Given the description of an element on the screen output the (x, y) to click on. 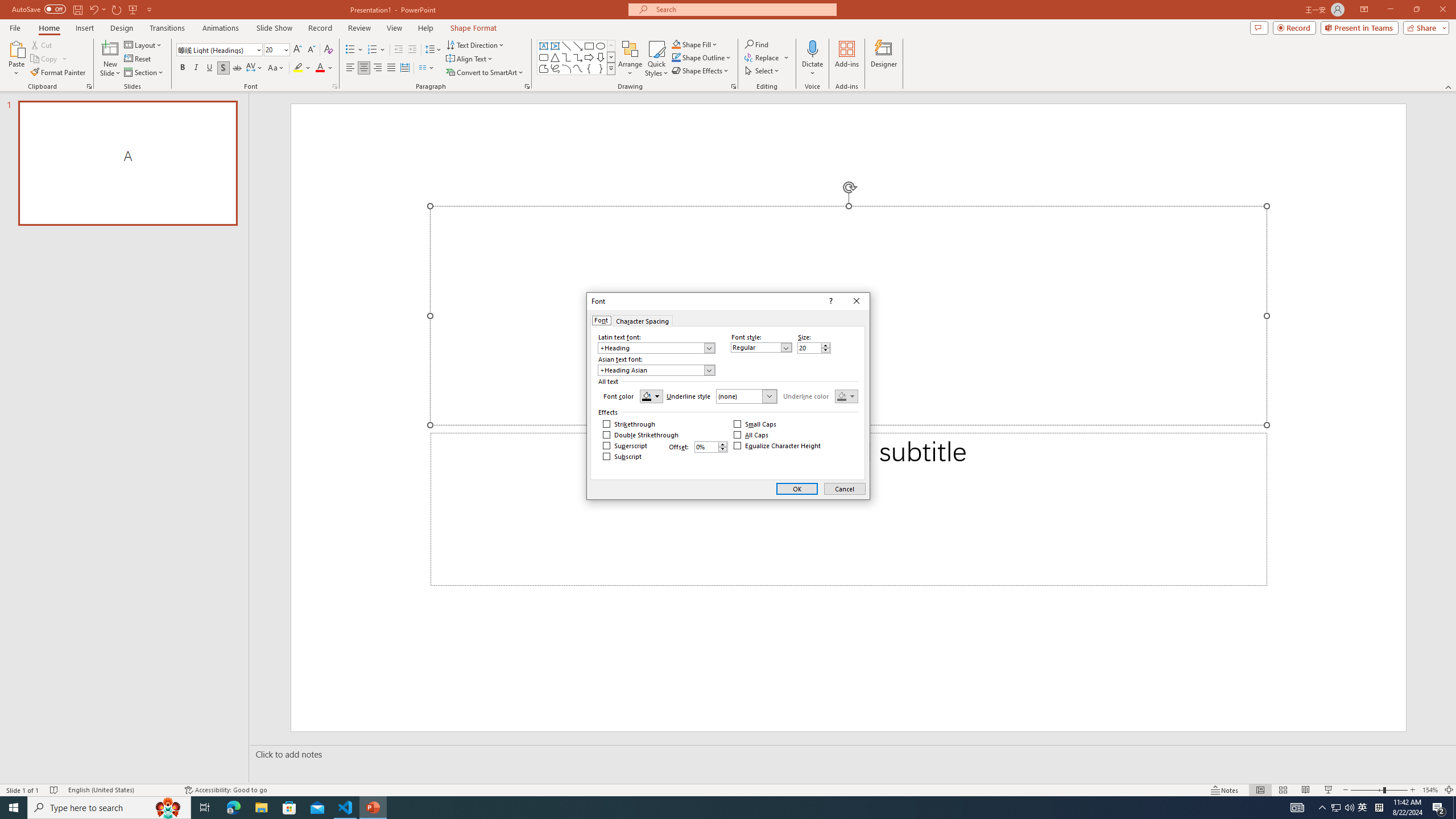
OK (797, 488)
